Given the description of an element on the screen output the (x, y) to click on. 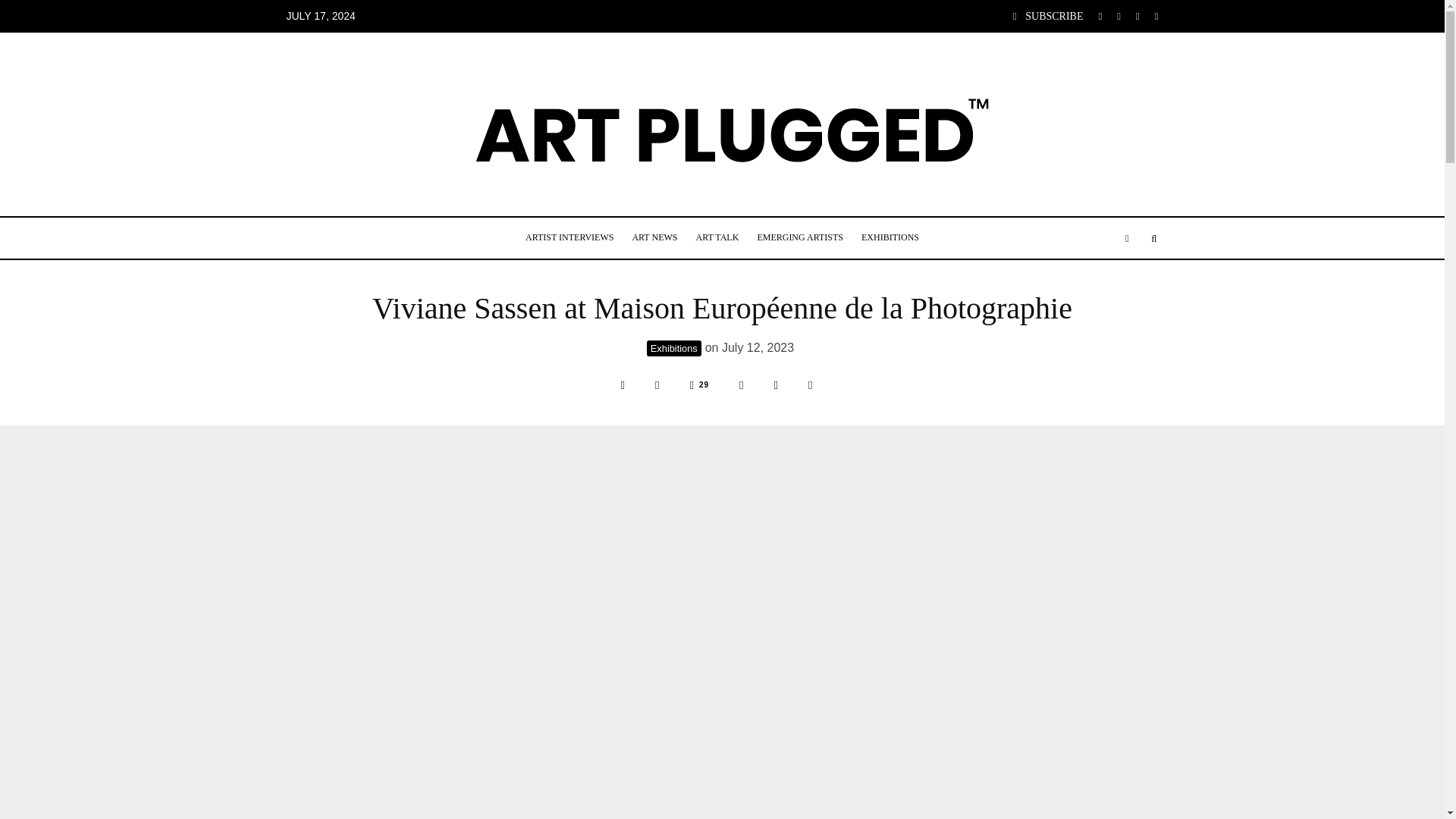
ARTIST INTERVIEWS (569, 237)
EMERGING ARTISTS (799, 237)
SUBSCRIBE (1048, 16)
ART TALK (716, 237)
ART NEWS (654, 237)
